Given the description of an element on the screen output the (x, y) to click on. 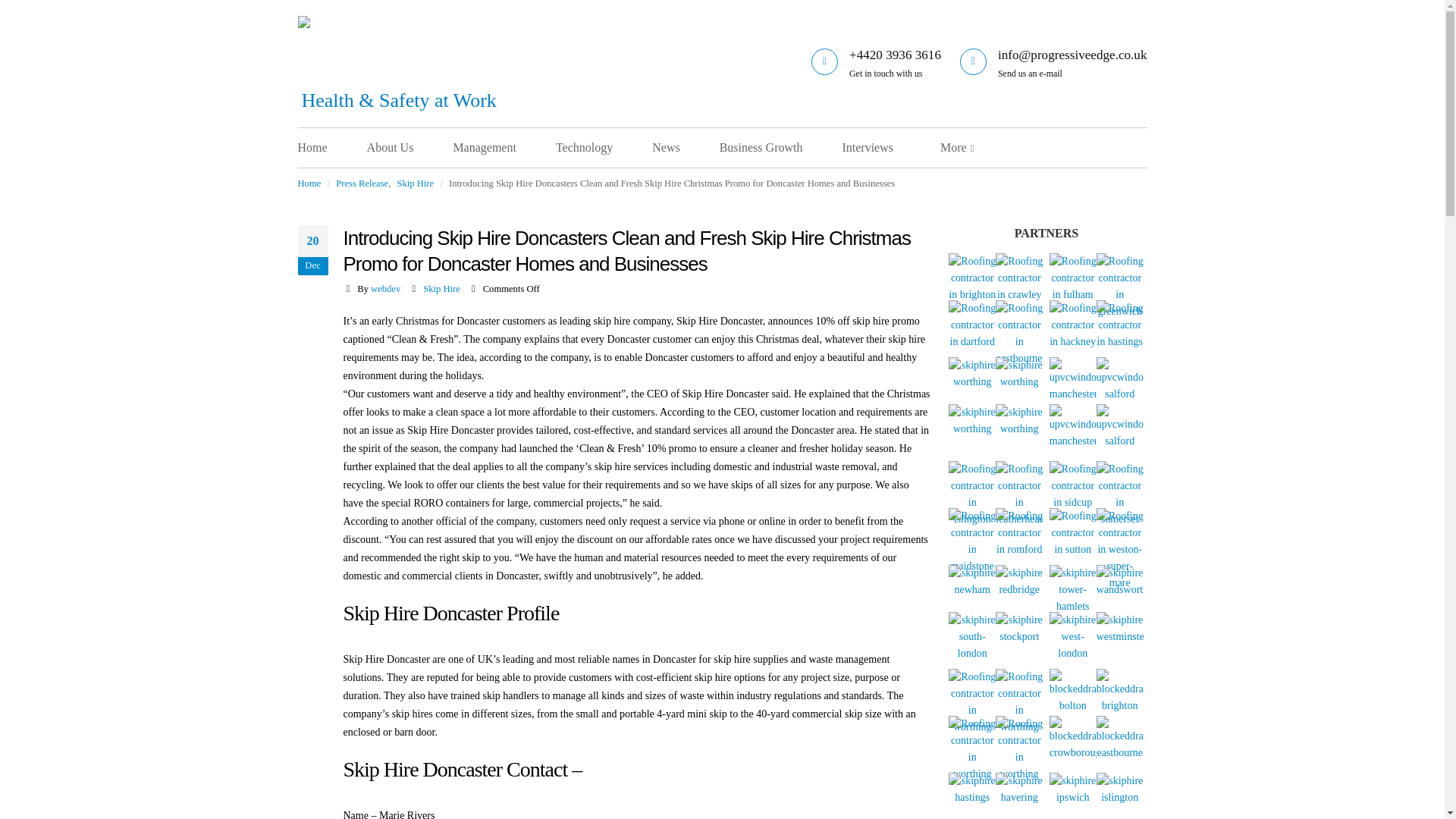
Home (308, 183)
News (684, 147)
About Us (408, 147)
Home (331, 147)
Technology (603, 147)
More (953, 147)
Skip Hire (414, 183)
Business Growth (780, 147)
Management (503, 147)
webdev (385, 288)
